Given the description of an element on the screen output the (x, y) to click on. 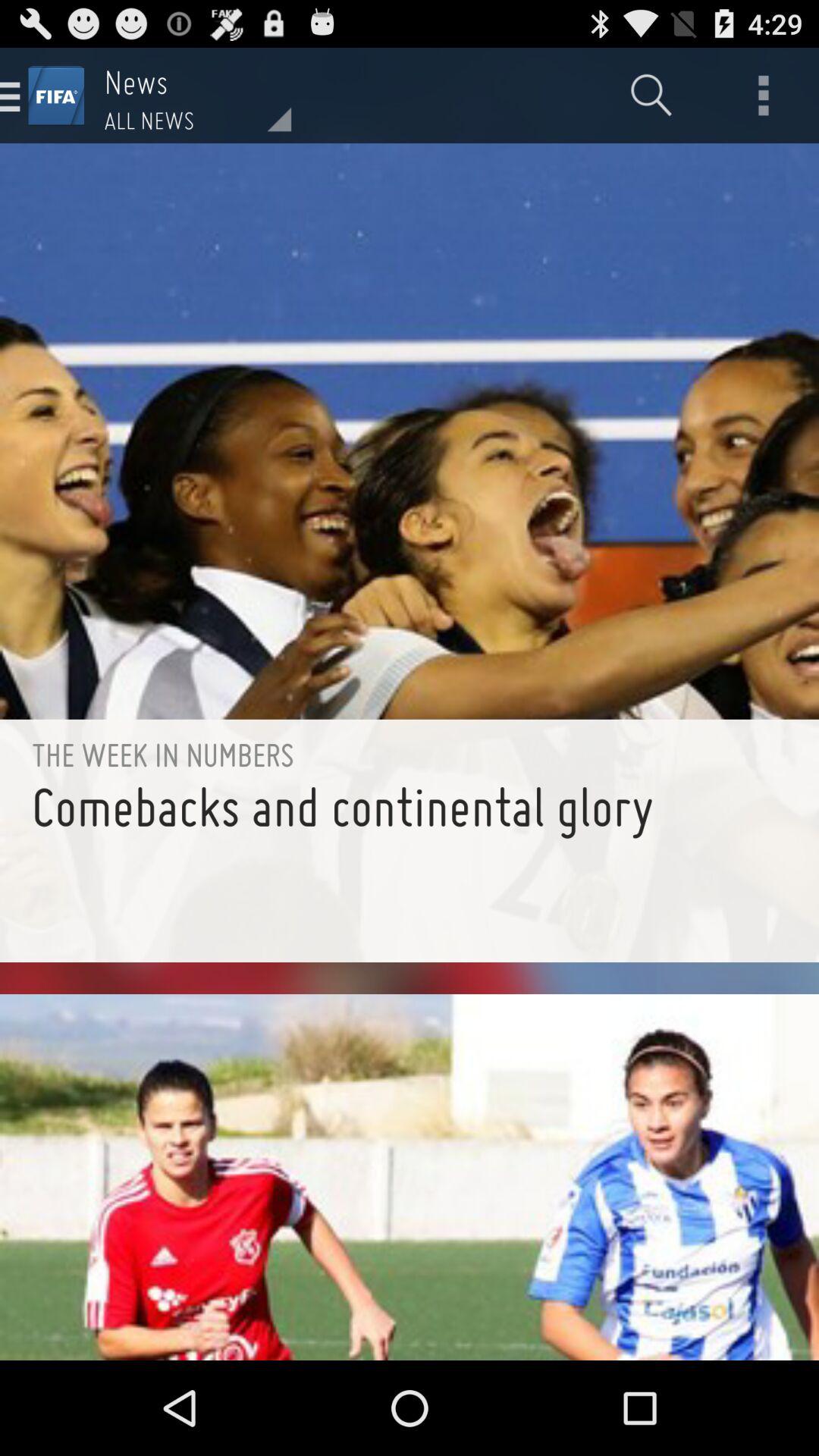
select icon above the comebacks and continental icon (409, 754)
